Given the description of an element on the screen output the (x, y) to click on. 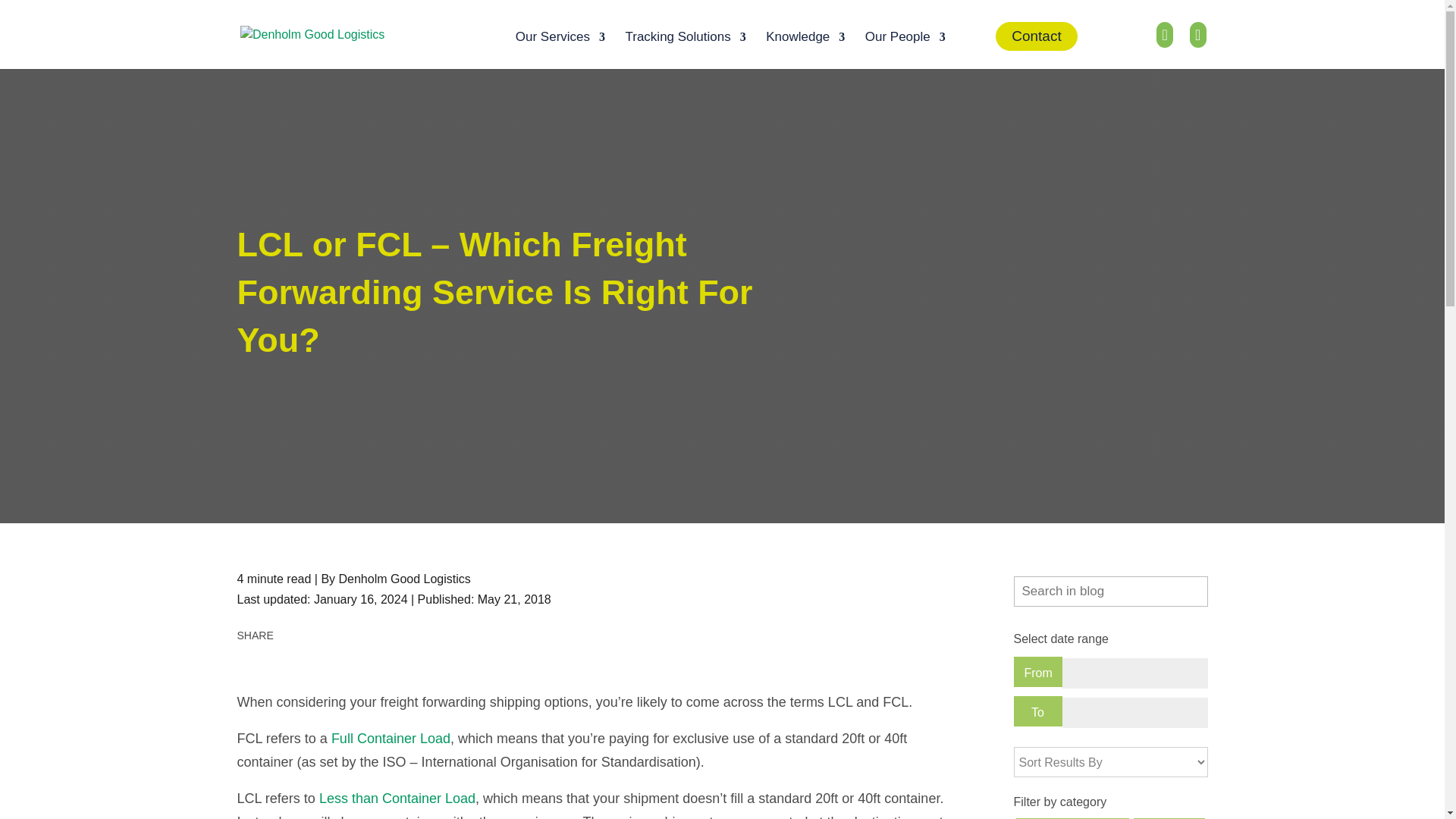
Knowledge (804, 48)
Tracking Solutions (684, 48)
Contact (1036, 36)
Our People (904, 48)
Our Services (560, 48)
